Given the description of an element on the screen output the (x, y) to click on. 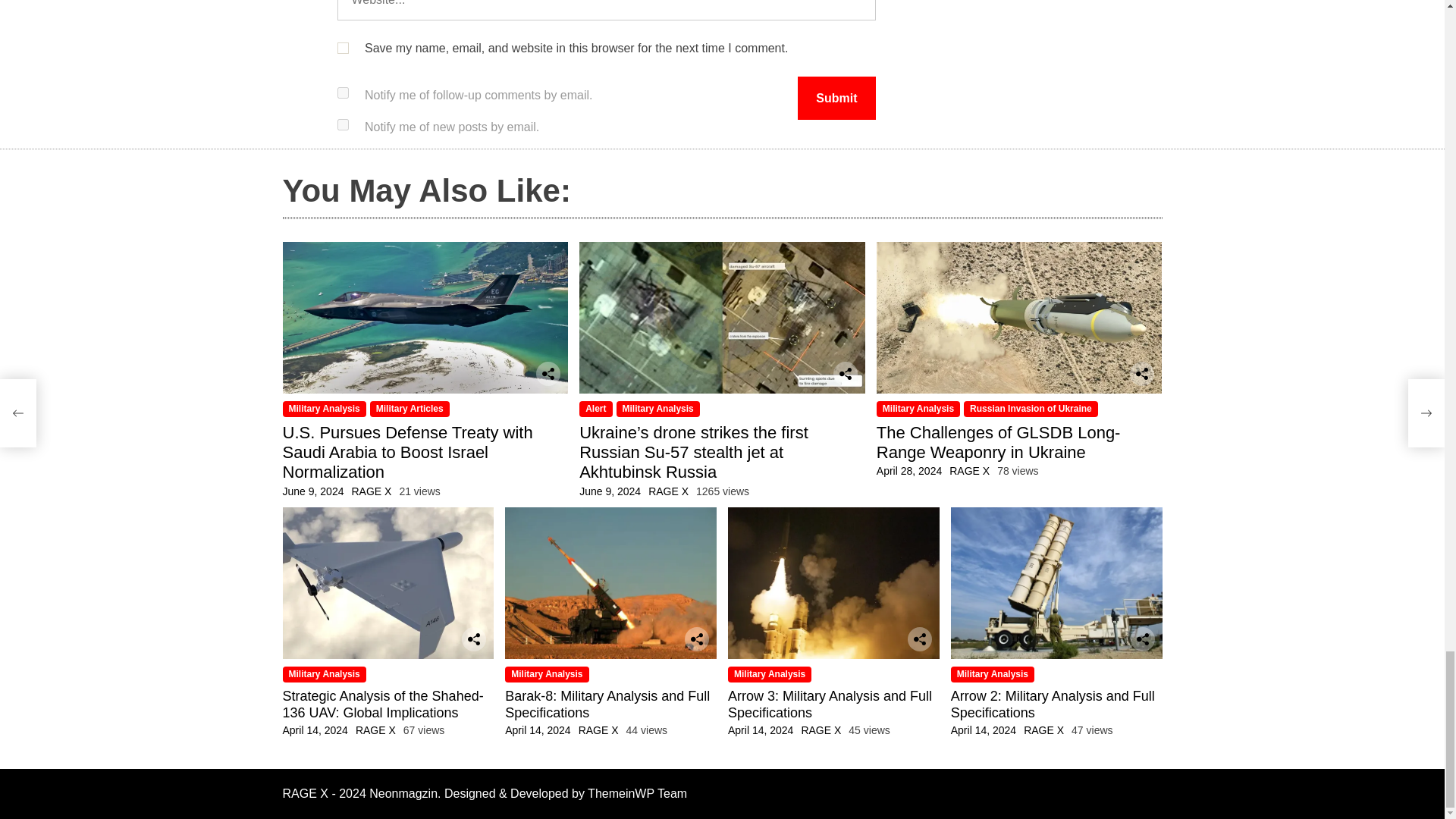
Submit (836, 97)
yes (341, 48)
subscribe (341, 124)
subscribe (341, 92)
